Given the description of an element on the screen output the (x, y) to click on. 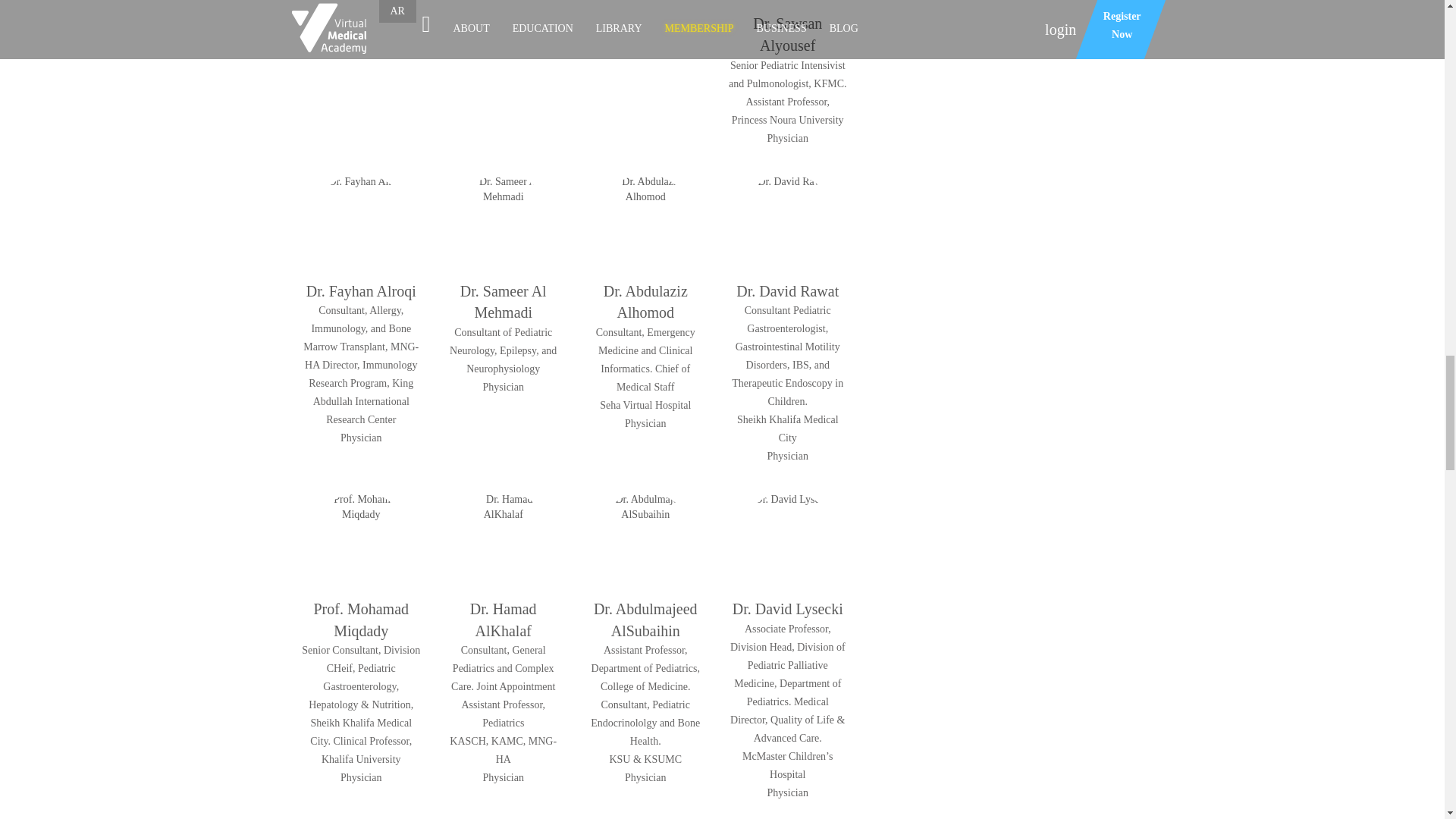
Dr. Sawsan Alyousef (787, 2)
Prof. Mohamad Miqdady (360, 541)
Dr. Fayhan Alroqi (360, 223)
Dr. David Rawat (787, 223)
Dr. Sameer Al Mehmadi (503, 223)
Dr. Abdulaziz Alhomod (644, 223)
